Given the description of an element on the screen output the (x, y) to click on. 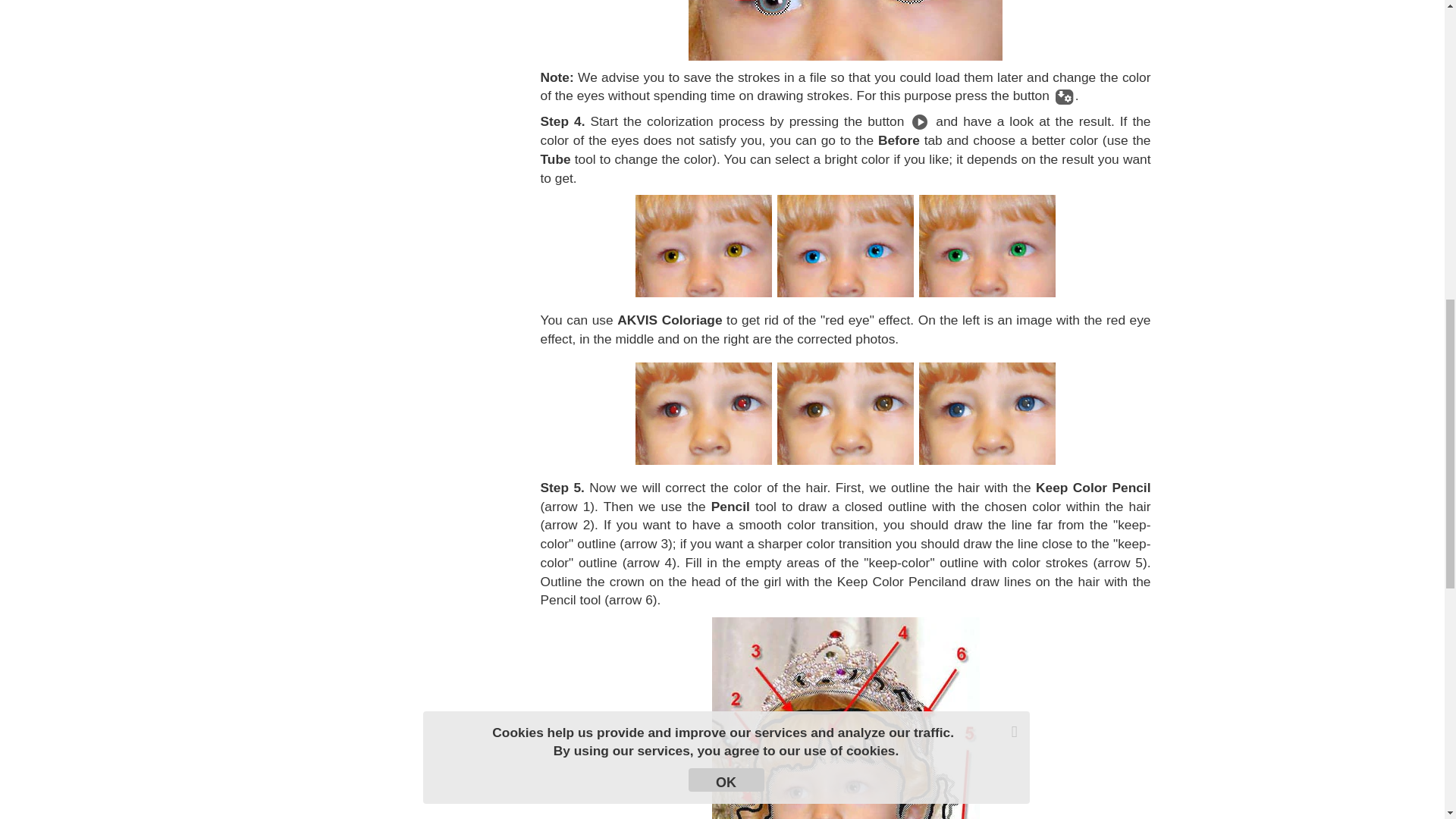
red eye effect (702, 413)
red eye effect removal (845, 413)
green eyes (986, 245)
Apply strokes to correct the color of the hair (844, 718)
bright blue eyes (845, 245)
red eye effect removal (986, 413)
yellow eyes (702, 245)
